Given the description of an element on the screen output the (x, y) to click on. 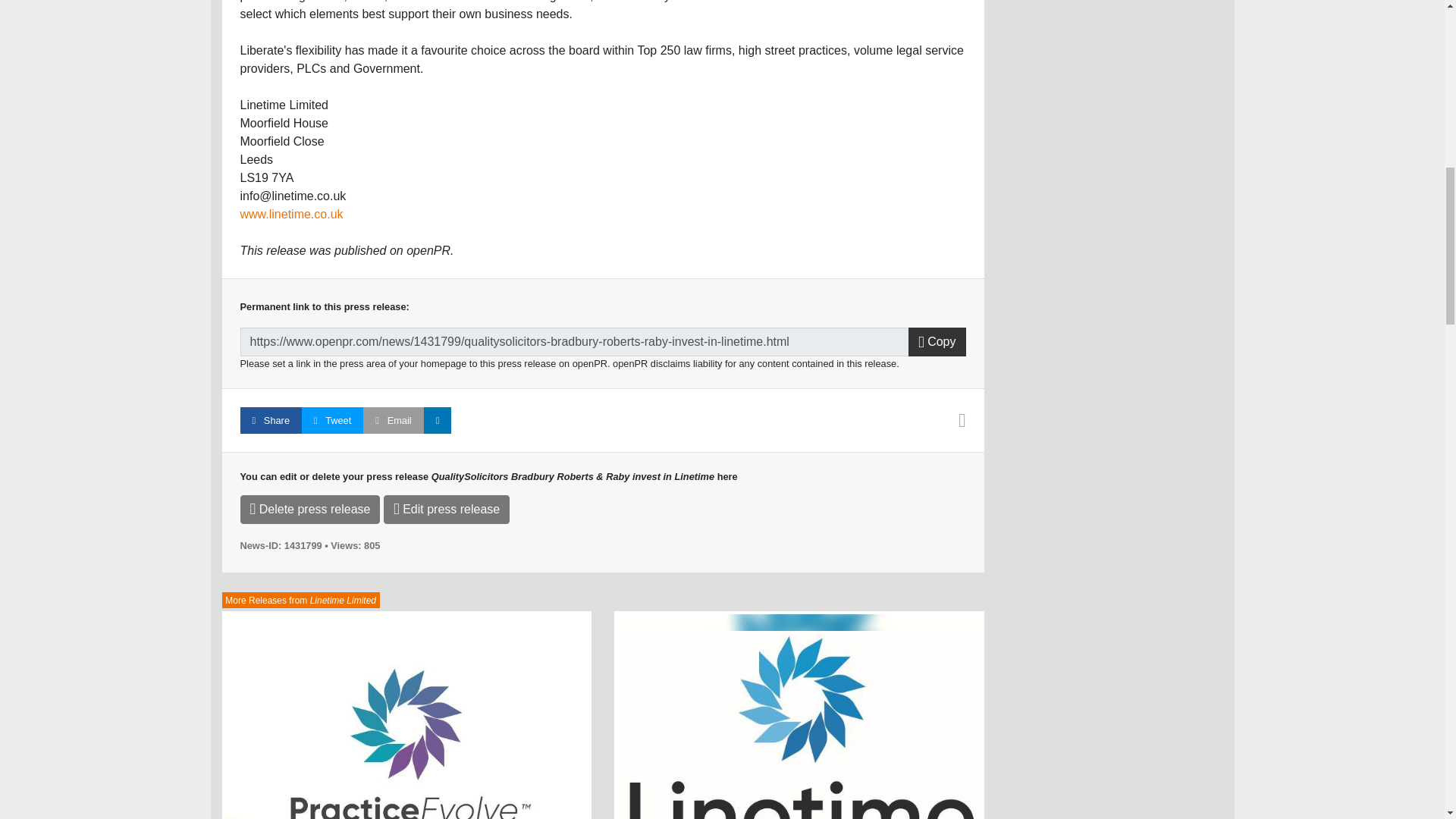
Facebook (270, 420)
Email (392, 420)
LinkedIn (437, 420)
Permalink (574, 341)
